Given the description of an element on the screen output the (x, y) to click on. 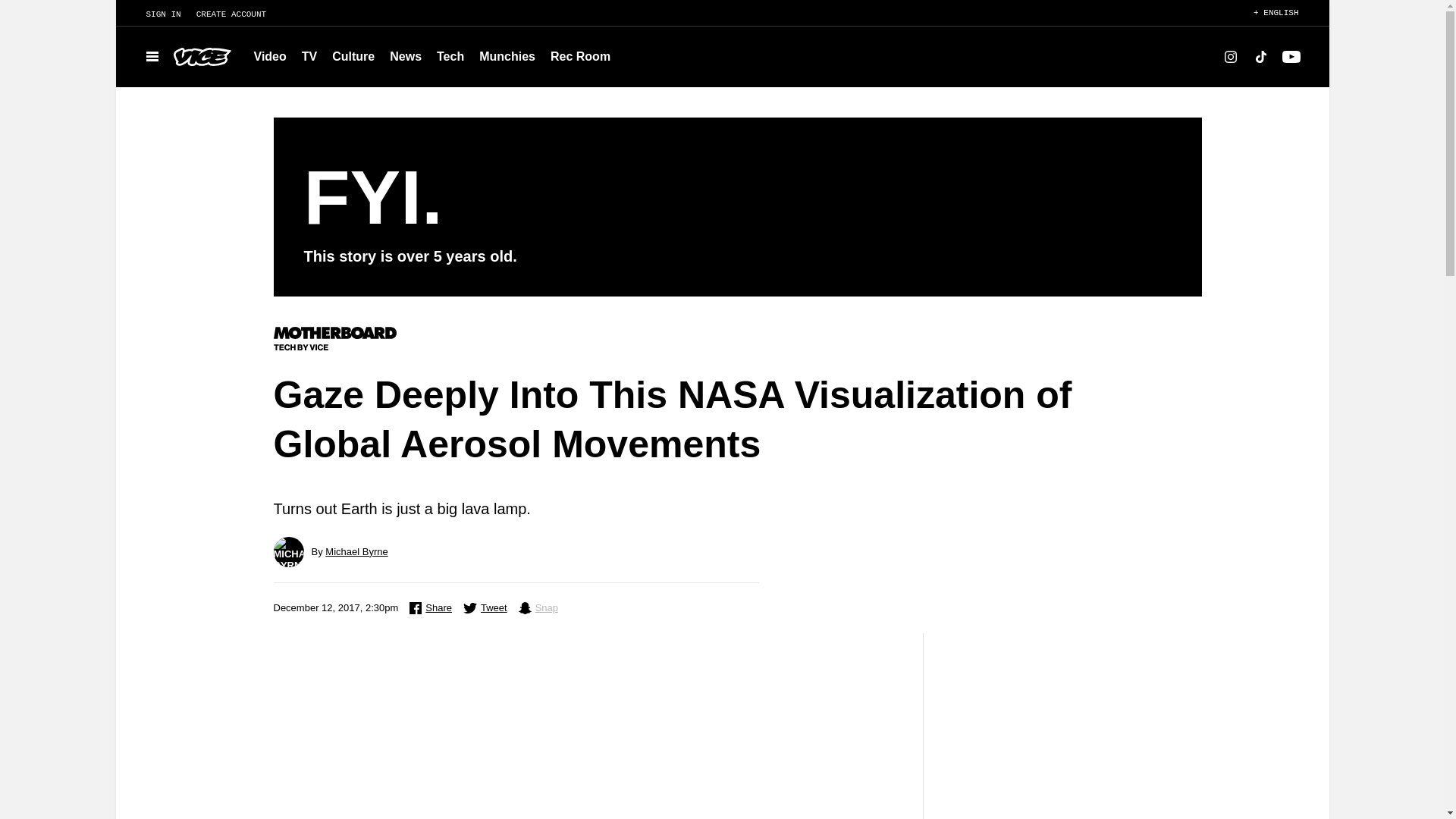
Culture (352, 56)
Share on Snapchat (537, 608)
TV (309, 56)
CREATE ACCOUNT (238, 13)
News (405, 56)
Video (270, 56)
Munchies (507, 56)
SIGN IN (155, 13)
Tech (450, 56)
Rec Room (580, 56)
